Given the description of an element on the screen output the (x, y) to click on. 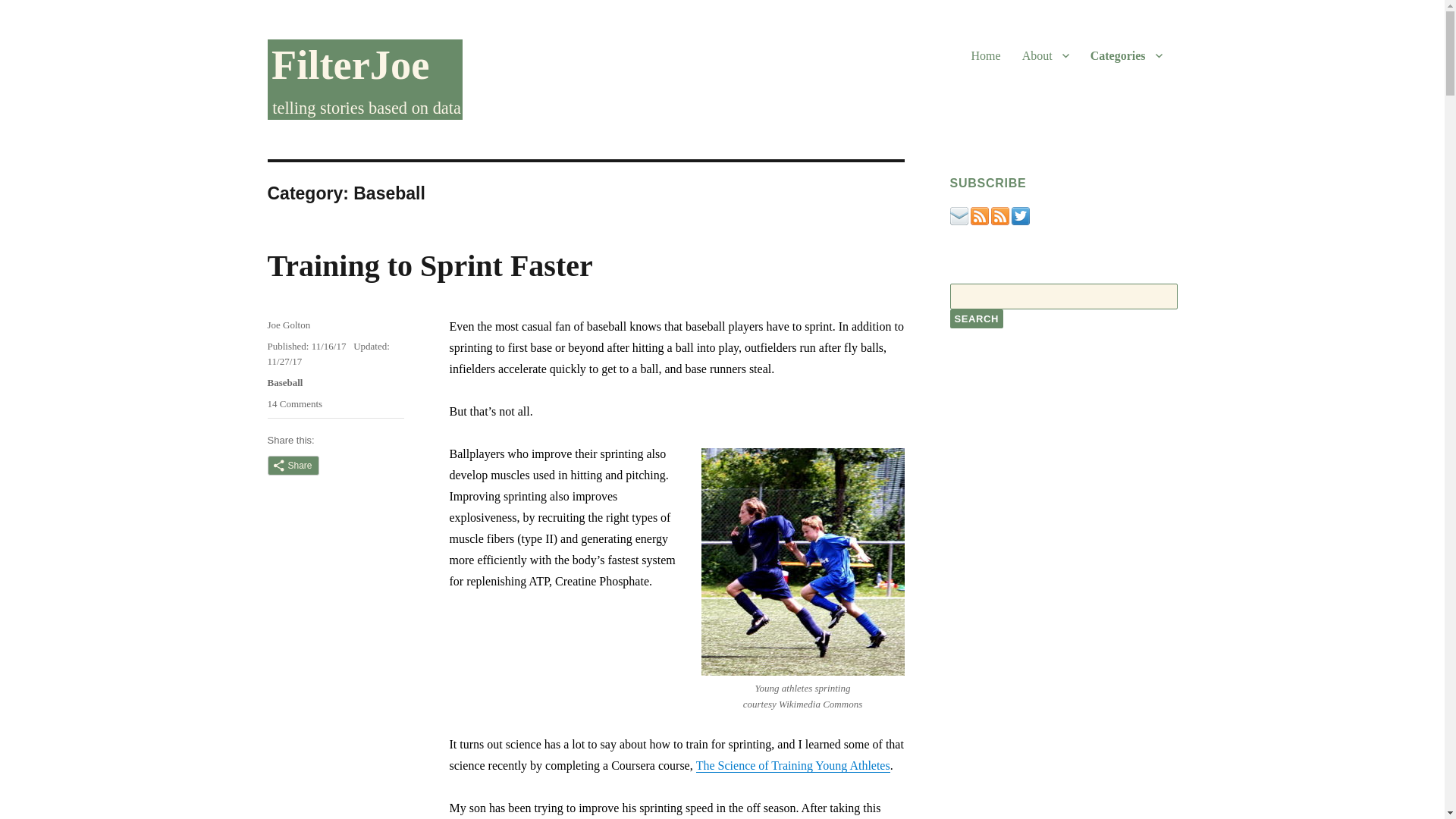
About (1045, 55)
Training to Sprint Faster (293, 403)
Share (429, 265)
Categories (292, 465)
Search (1126, 55)
Joe Golton (976, 318)
Baseball (288, 324)
Home (284, 382)
